Given the description of an element on the screen output the (x, y) to click on. 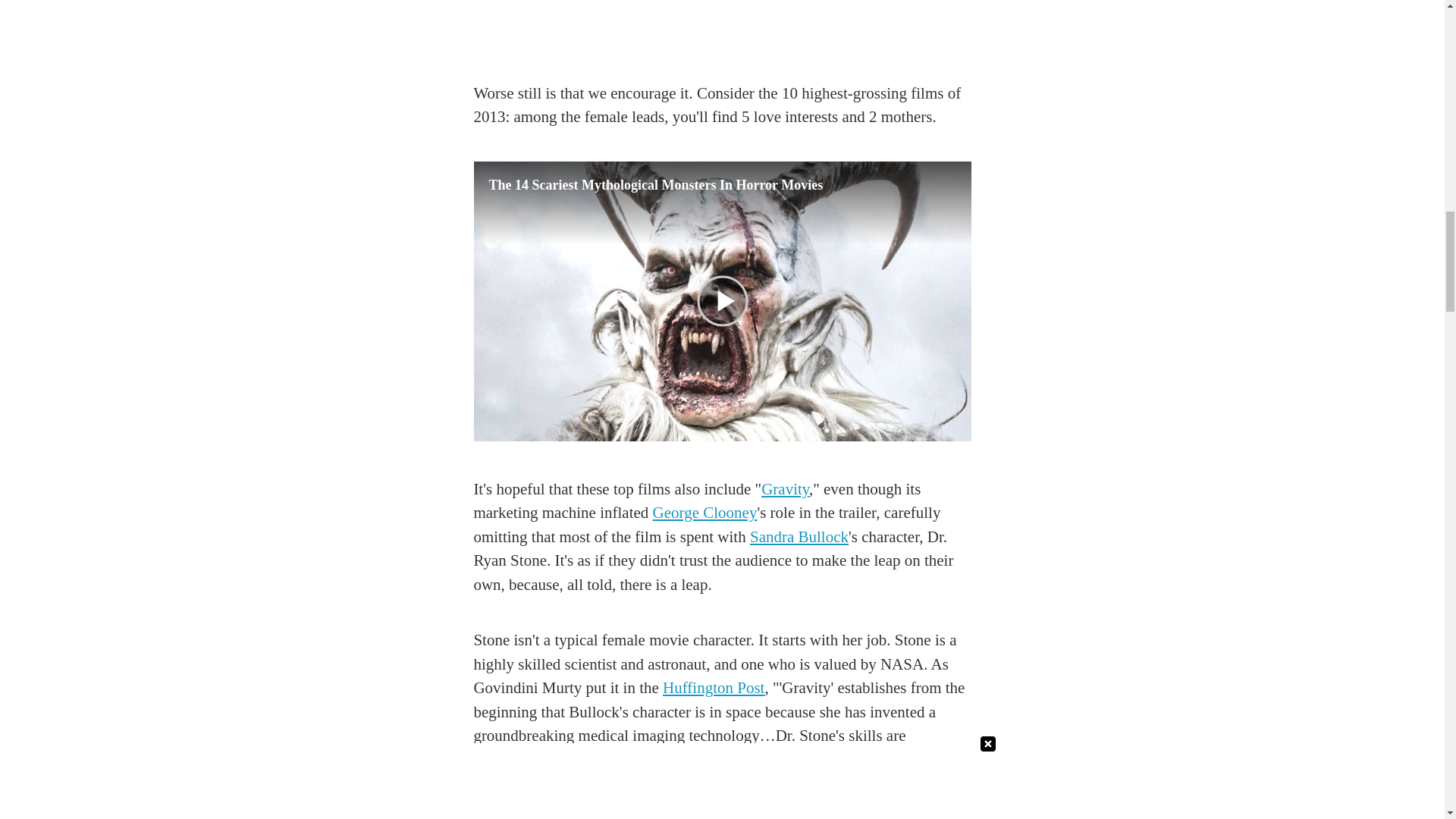
Huffington Post (713, 687)
Sandra Bullock (798, 536)
Gravity (785, 488)
George Clooney (704, 512)
